Given the description of an element on the screen output the (x, y) to click on. 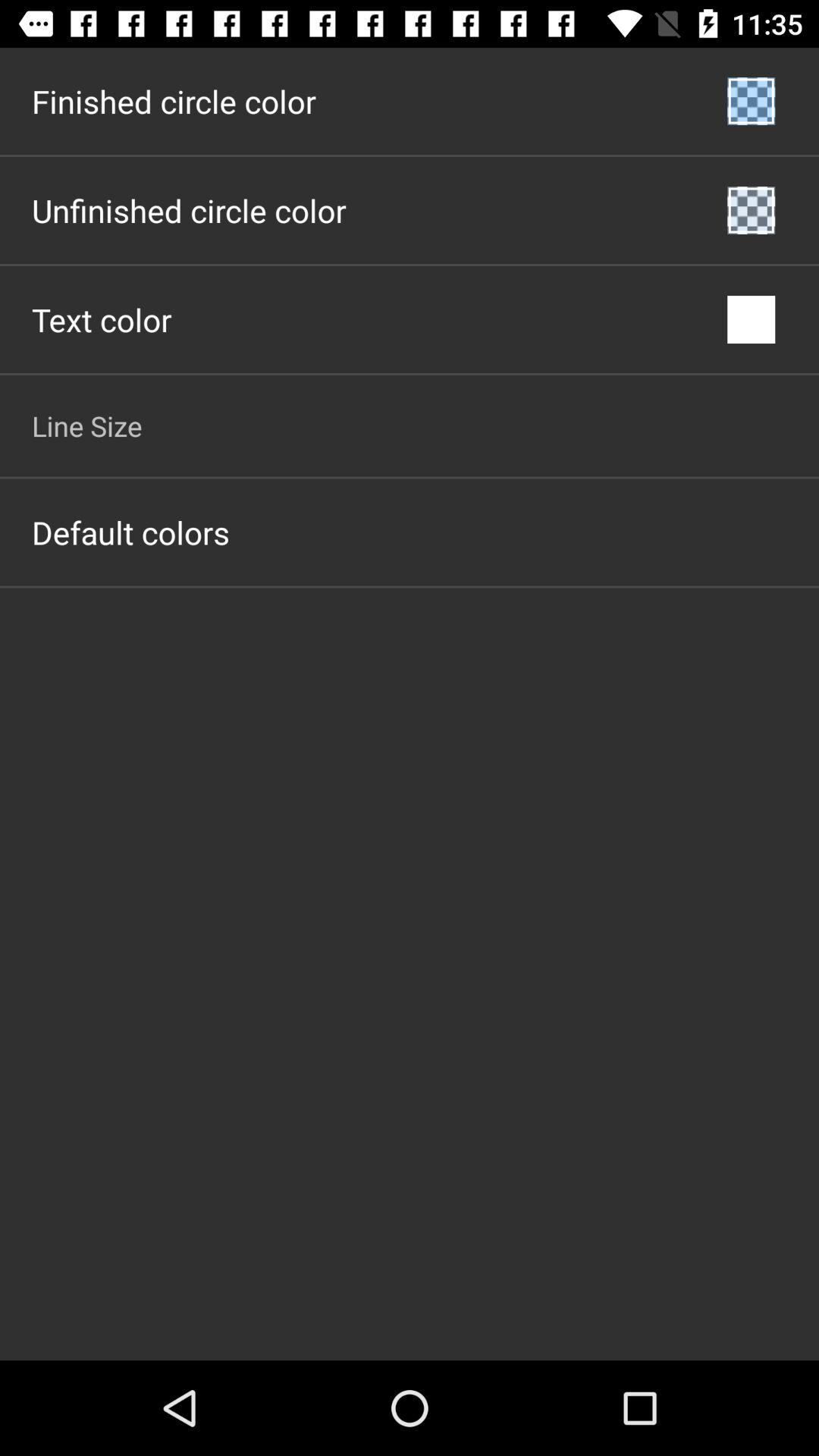
open the icon next to the text color item (751, 319)
